Given the description of an element on the screen output the (x, y) to click on. 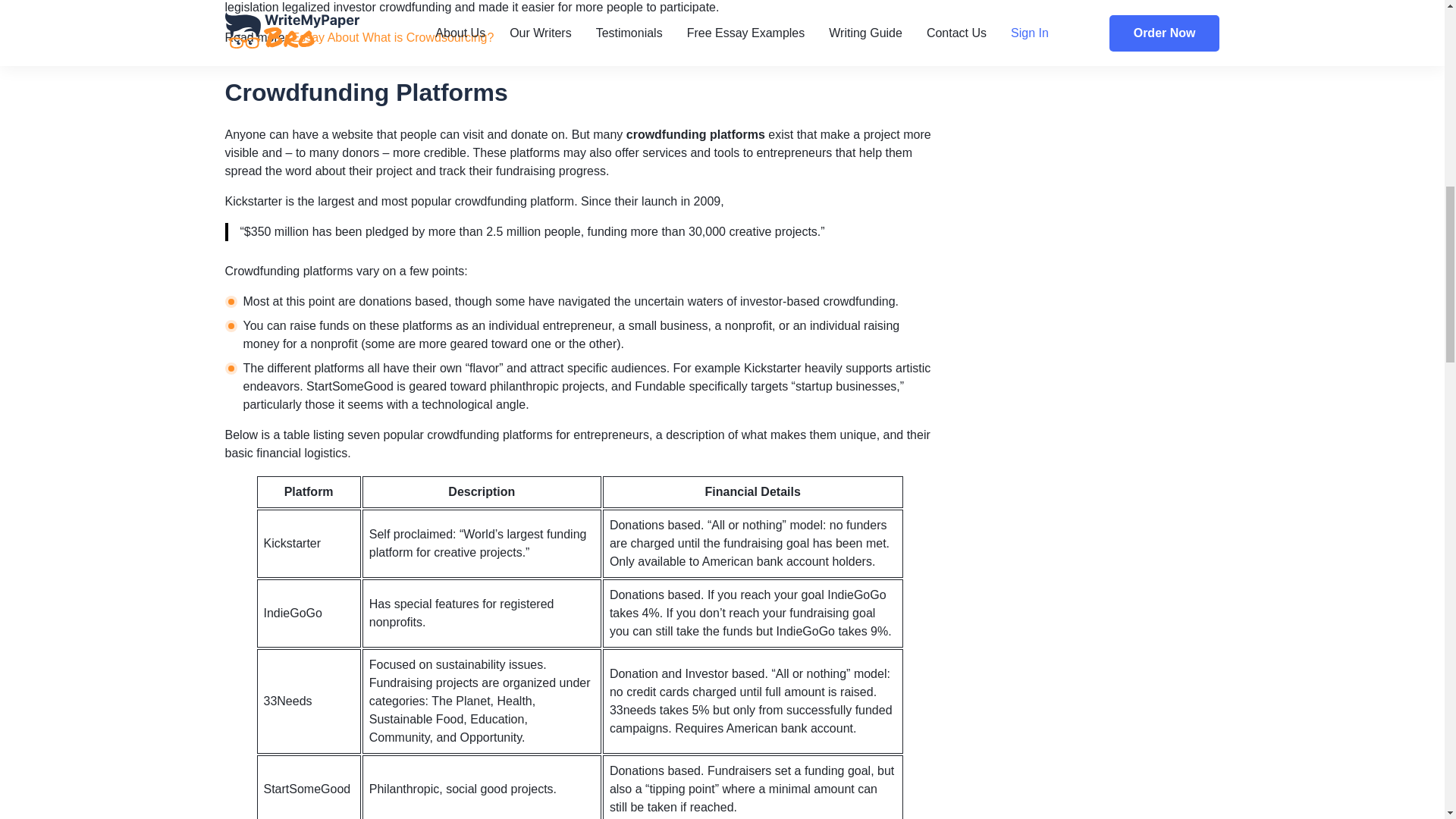
Essay About What is Crowdsourcing? (393, 37)
